Given the description of an element on the screen output the (x, y) to click on. 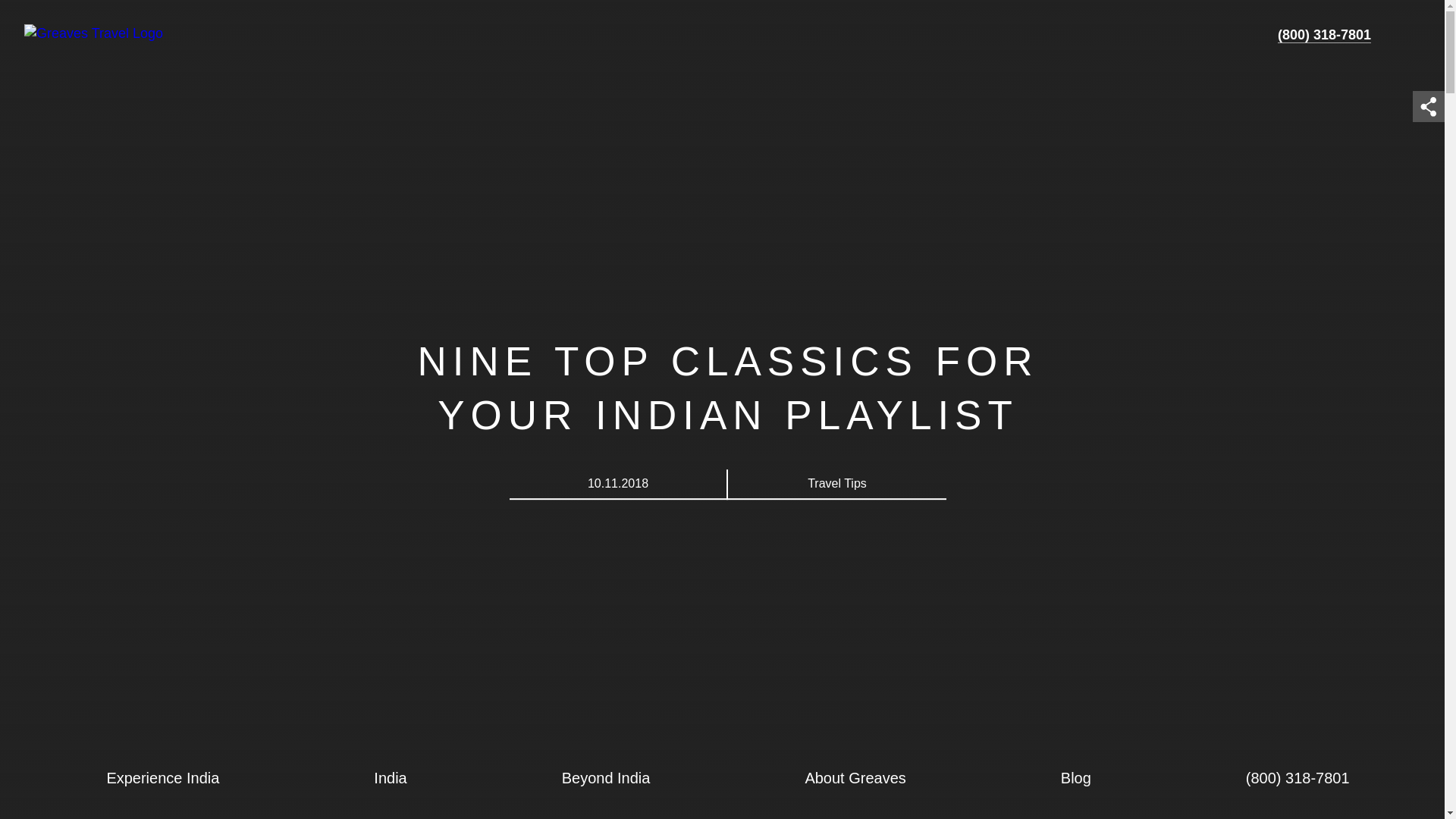
India (390, 777)
Beyond India (605, 777)
Travel Tips (837, 482)
About Greaves (854, 777)
Experience India (162, 777)
Blog (1075, 777)
